Given the description of an element on the screen output the (x, y) to click on. 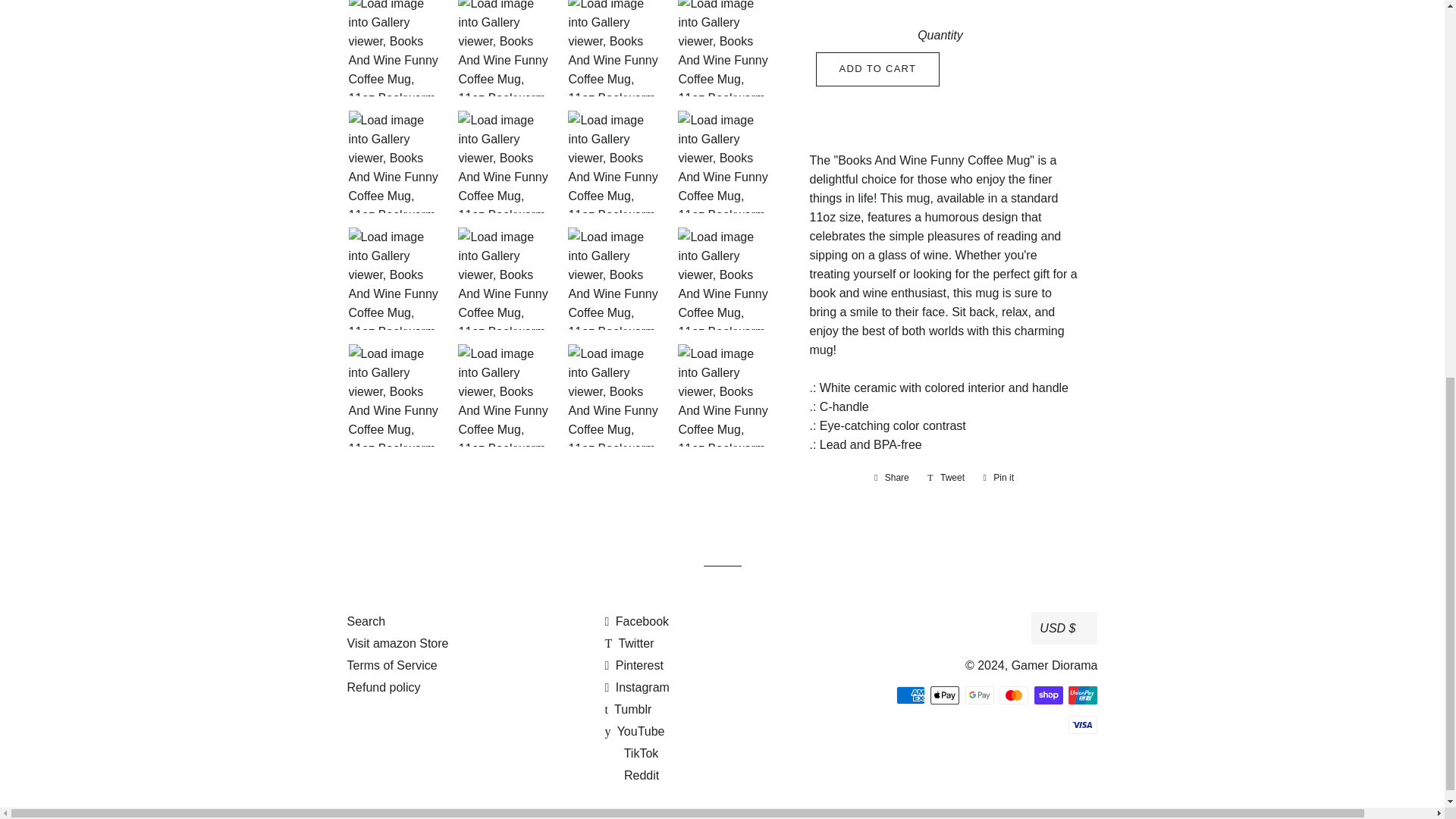
Gamer Diorama on Tumblr (627, 708)
Apple Pay (944, 695)
Visa (1082, 724)
Shop Pay (1047, 695)
Union Pay (1082, 695)
Gamer Diorama on TikTok (631, 753)
Gamer Diorama on Reddit (631, 775)
Pin on Pinterest (998, 477)
Google Pay (979, 695)
Share on Facebook (891, 477)
